Given the description of an element on the screen output the (x, y) to click on. 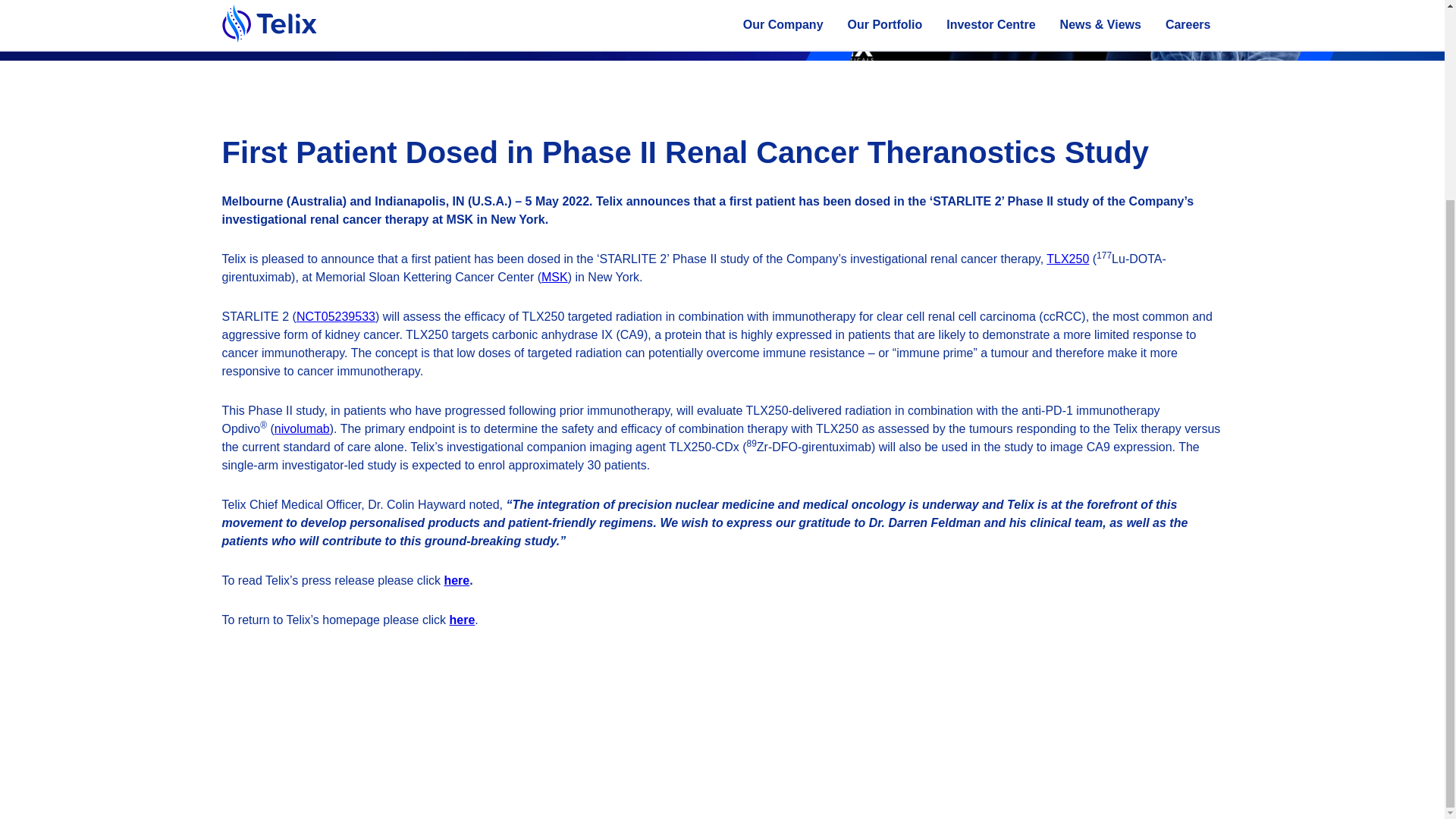
NCT05239533 (336, 316)
nivolumab (302, 428)
MSK (554, 277)
here (462, 619)
TLX250 (1067, 258)
here (456, 580)
